Given the description of an element on the screen output the (x, y) to click on. 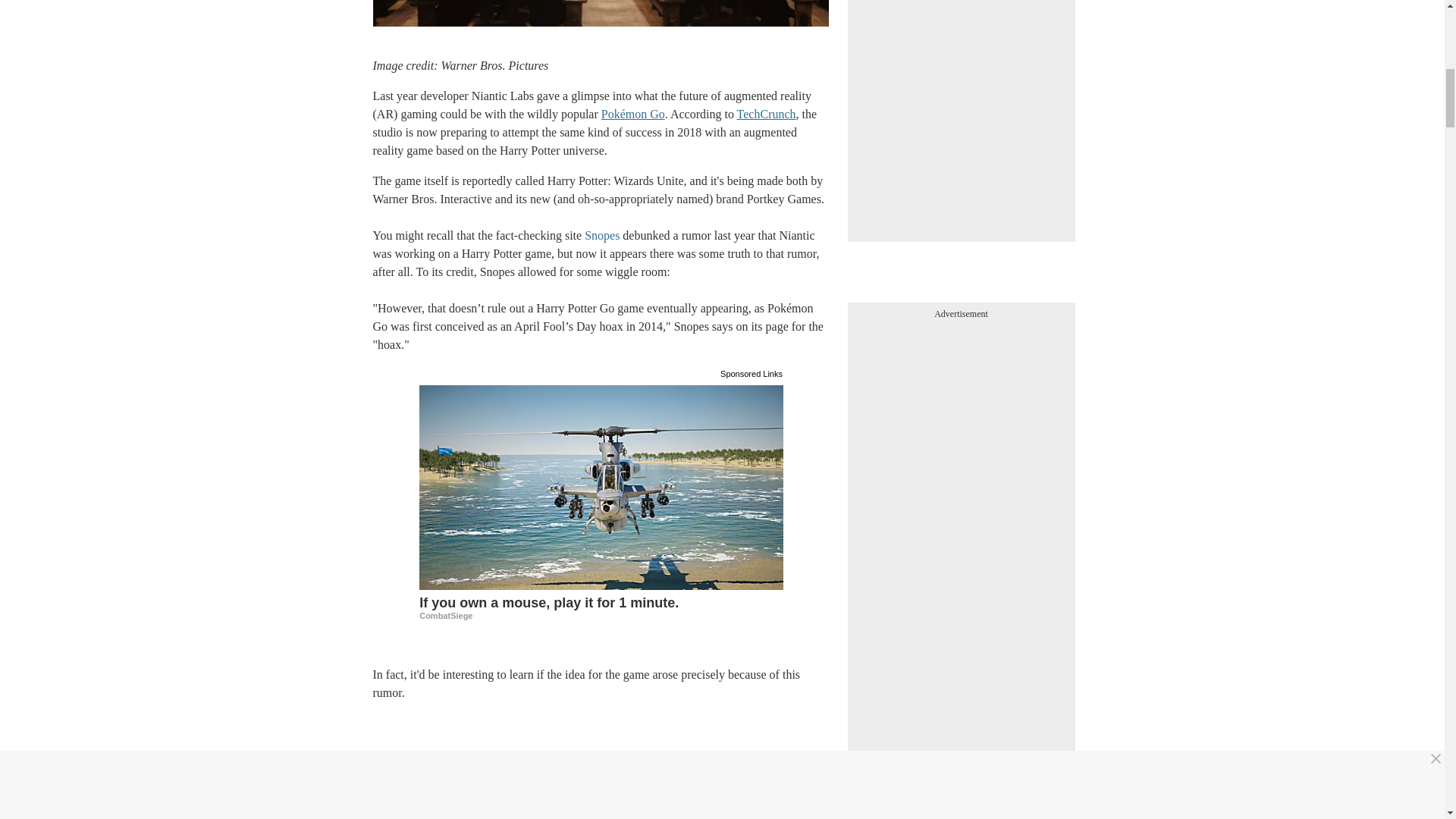
If you own a mouse, play it for 1 minute. (601, 606)
